Given the description of an element on the screen output the (x, y) to click on. 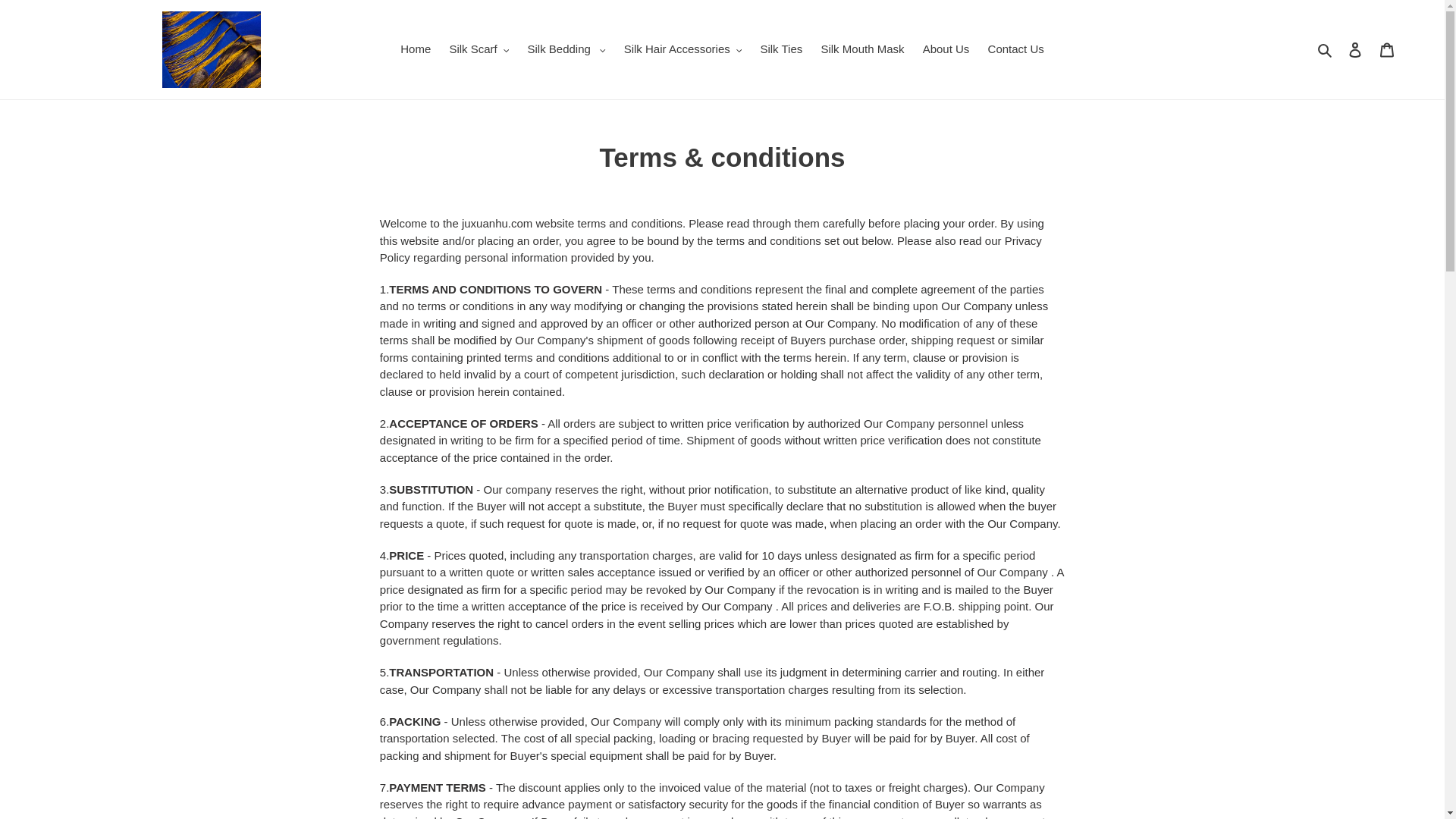
Silk Ties (780, 49)
Home (415, 49)
Silk Hair Accessories (682, 49)
About Us (945, 49)
Cart (1387, 49)
Contact Us (1015, 49)
Silk Scarf (478, 49)
Silk Mouth Mask (861, 49)
Log in (1355, 49)
Search (1326, 49)
Silk Bedding (565, 49)
